Given the description of an element on the screen output the (x, y) to click on. 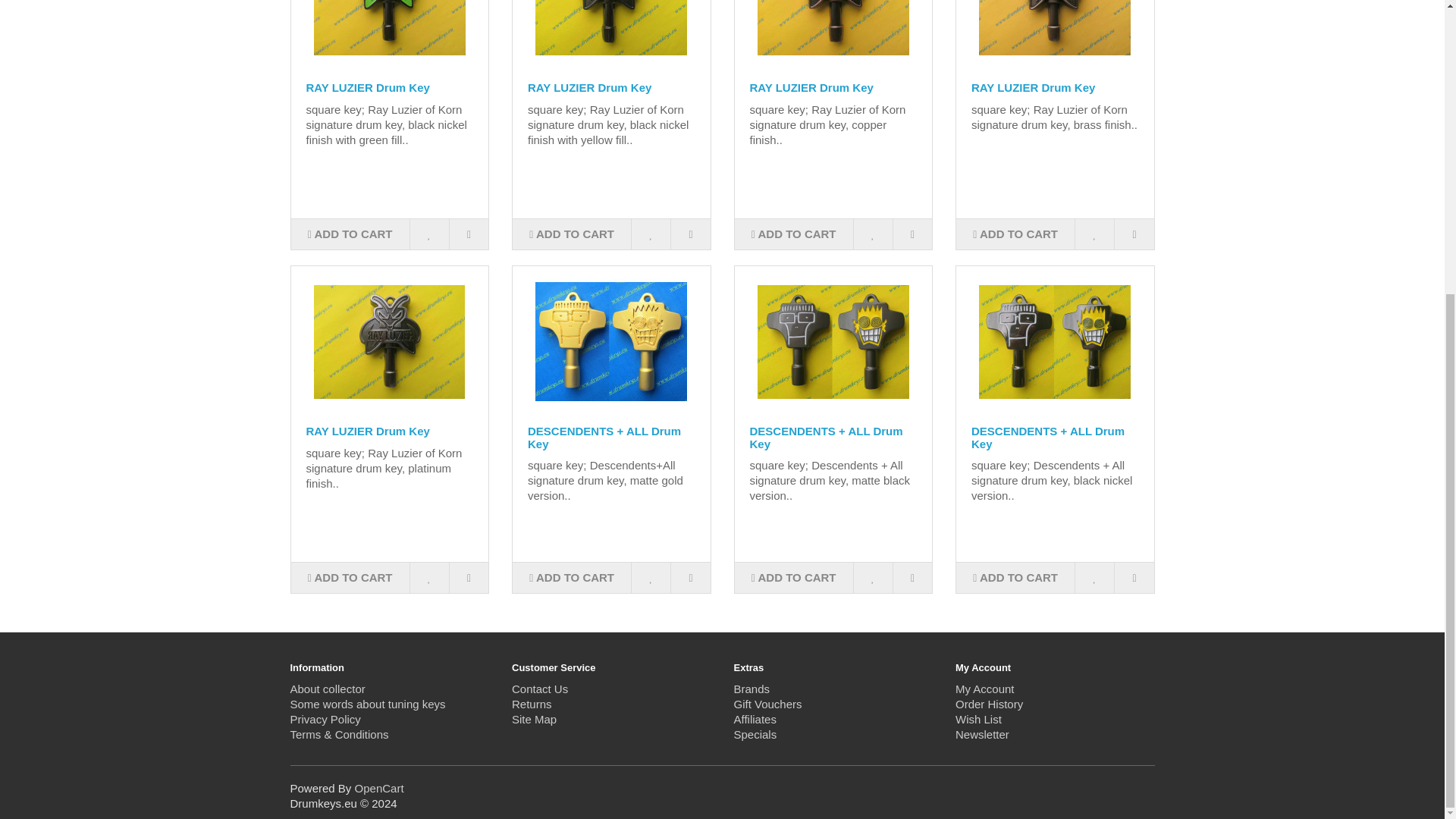
RAY LUZIER Drum Key (1054, 37)
RAY LUZIER Drum Key (832, 37)
RAY LUZIER Drum Key (389, 37)
RAY LUZIER Drum Key (611, 37)
RAY LUZIER Drum Key (389, 341)
